Given the description of an element on the screen output the (x, y) to click on. 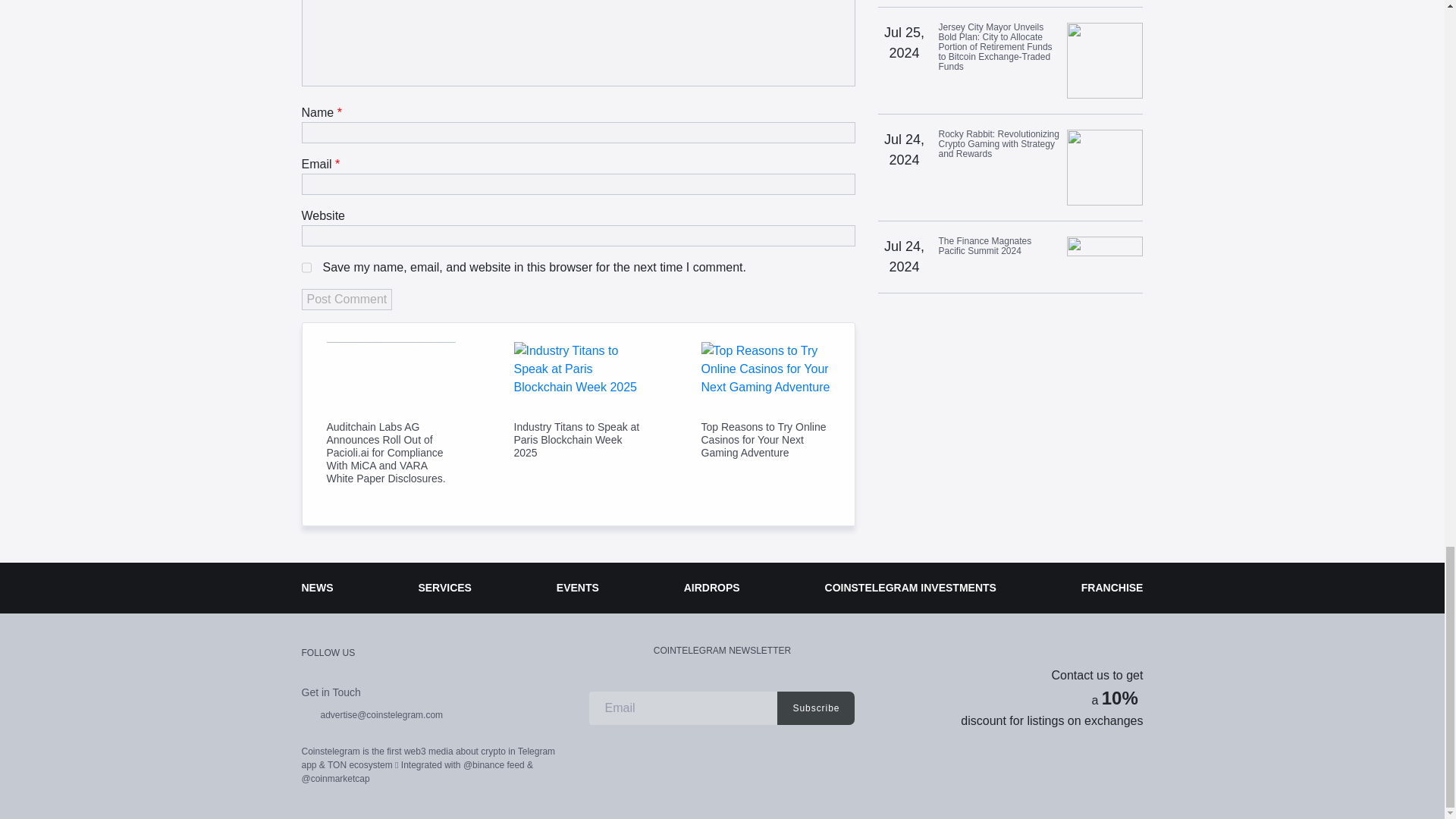
Industry Titans to Speak at Paris Blockchain Week 2025 (578, 439)
Post Comment (347, 299)
Post Comment (347, 299)
